Given the description of an element on the screen output the (x, y) to click on. 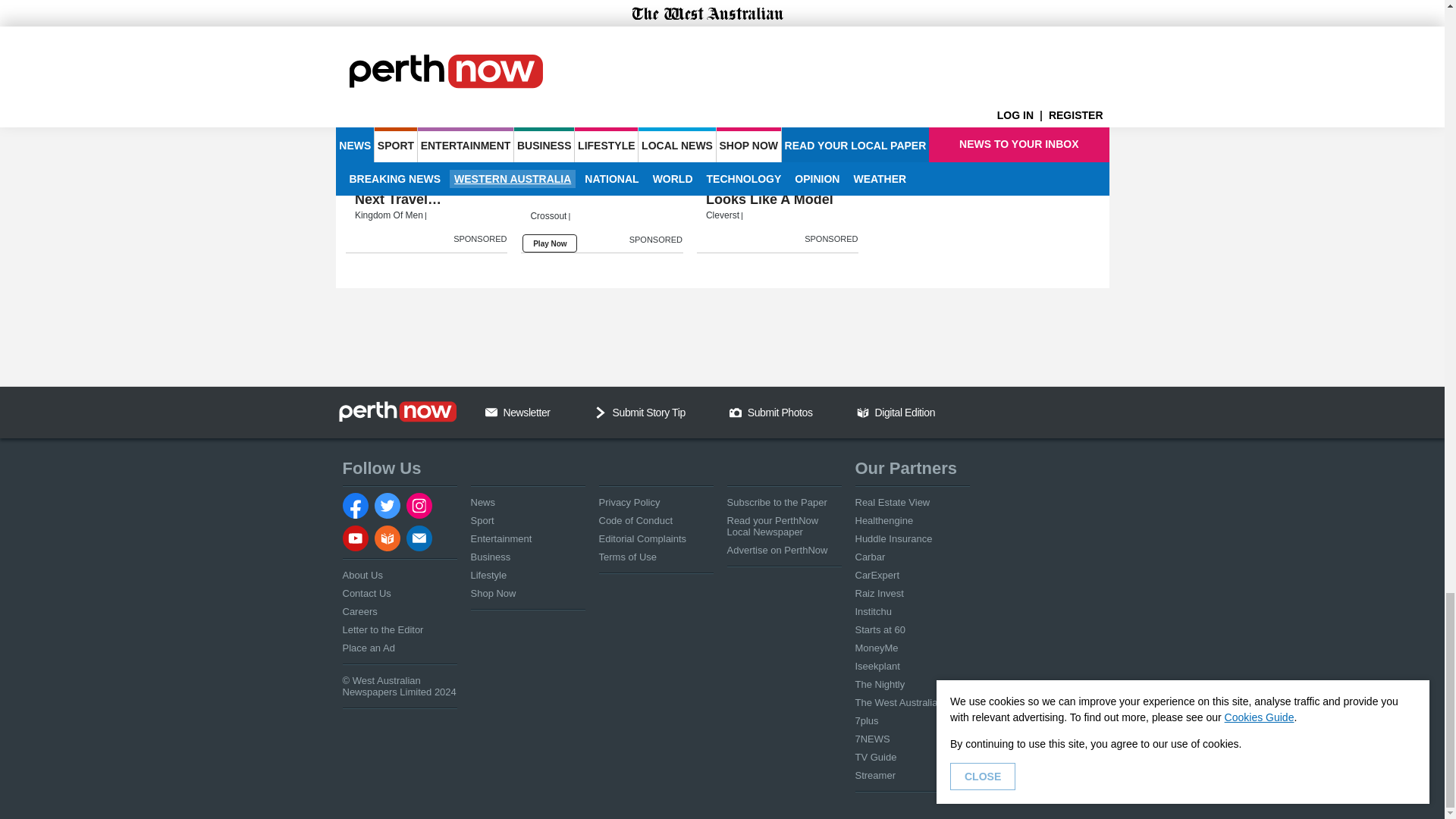
Chevron Down Icon (600, 412)
Camera Icon (735, 412)
Email Us (490, 412)
